Given the description of an element on the screen output the (x, y) to click on. 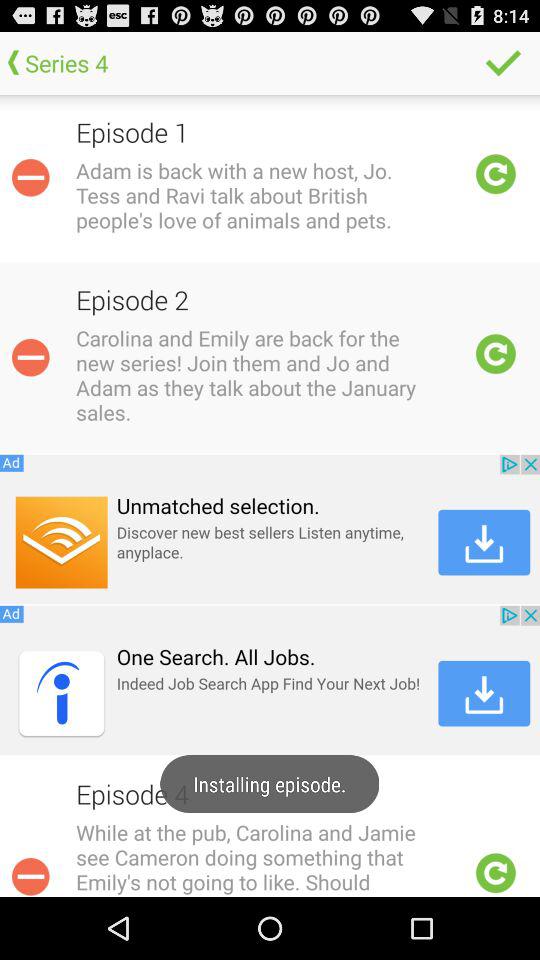
refresh (496, 873)
